Given the description of an element on the screen output the (x, y) to click on. 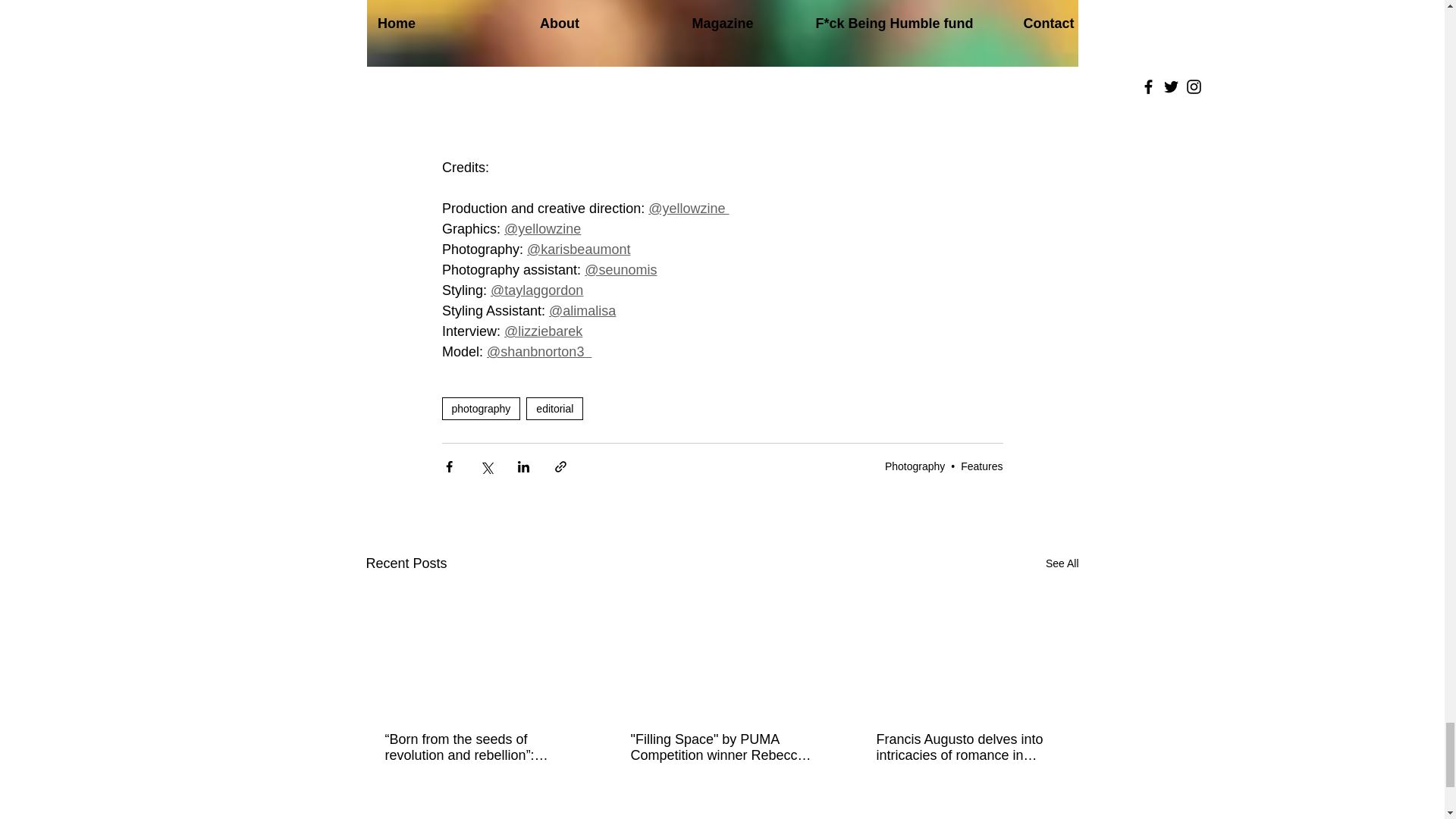
editorial (554, 408)
Features (981, 466)
photography (480, 408)
Photography (914, 466)
See All (1061, 563)
